Given the description of an element on the screen output the (x, y) to click on. 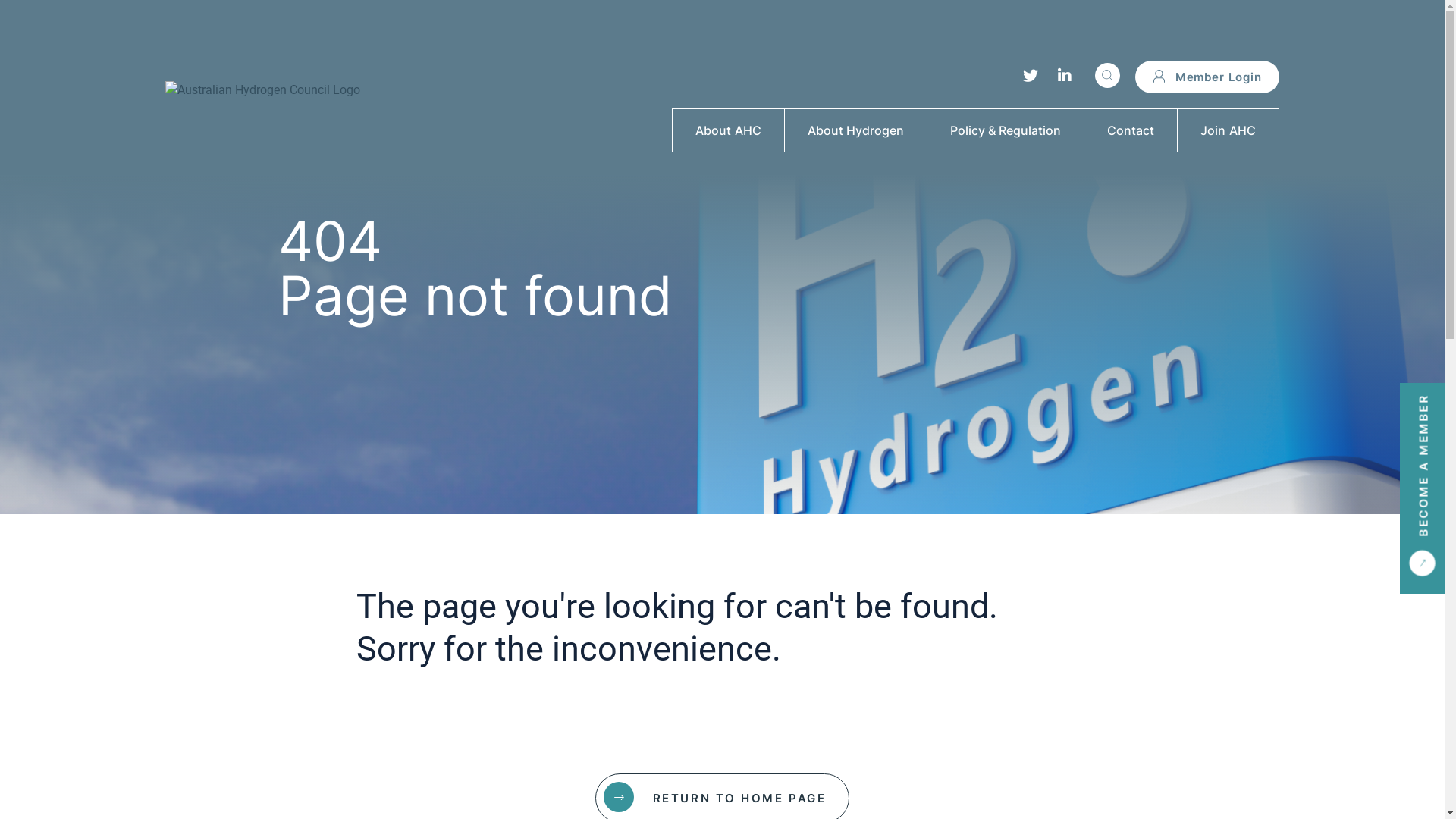
Contact Element type: text (1130, 130)
Policy & Regulation Element type: text (1005, 130)
Join
AHC Element type: text (1227, 130)
About Hydrogen Element type: text (855, 130)
Member Login Element type: text (1207, 76)
About
AHC Element type: text (728, 130)
